Given the description of an element on the screen output the (x, y) to click on. 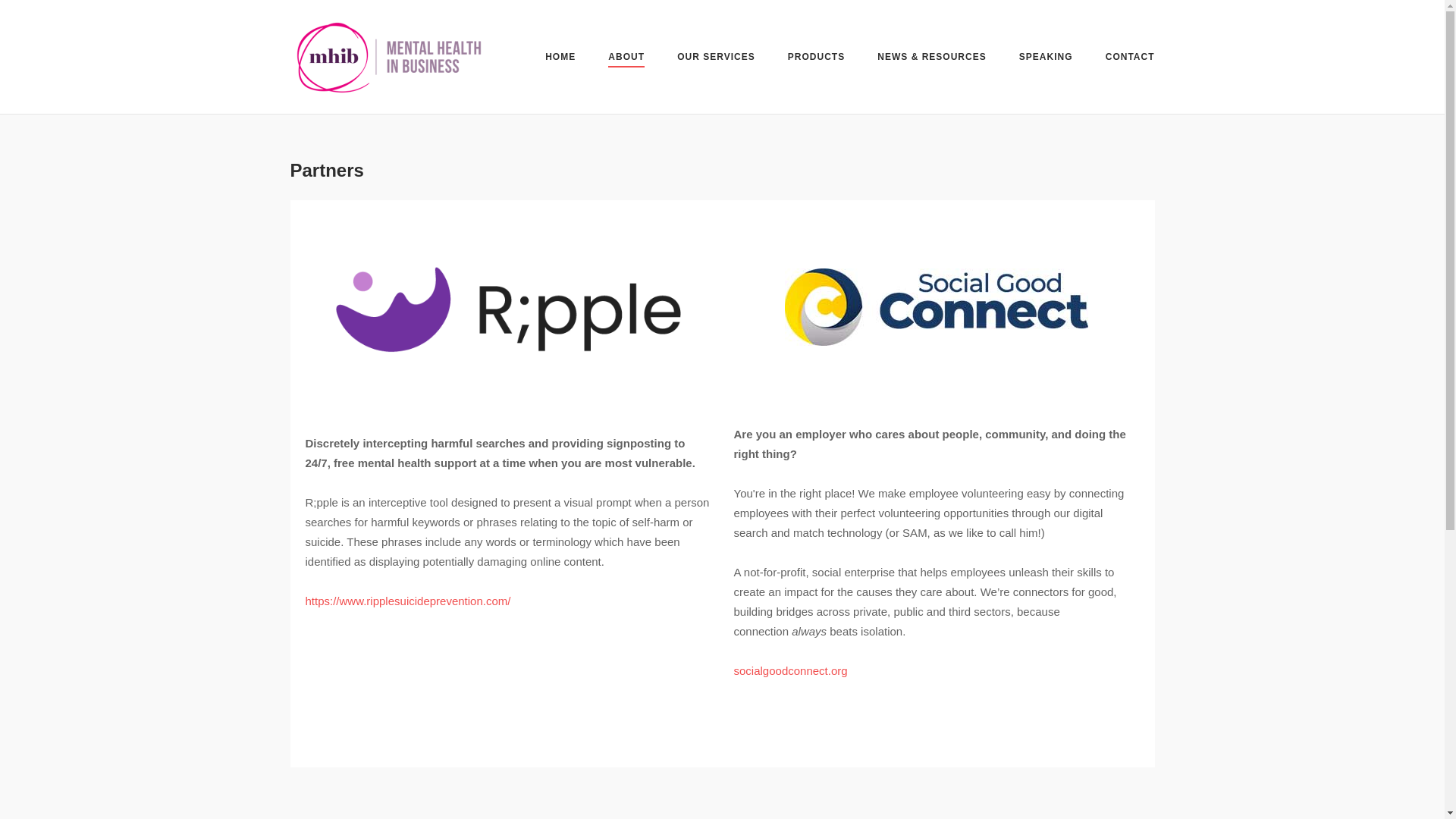
OUR SERVICES (715, 58)
PRODUCTS (815, 58)
ABOUT (626, 59)
CONTACT (1129, 58)
ripple logo (507, 309)
socialgoodconnect.org (790, 670)
SPEAKING (1046, 59)
HOME (559, 59)
